Given the description of an element on the screen output the (x, y) to click on. 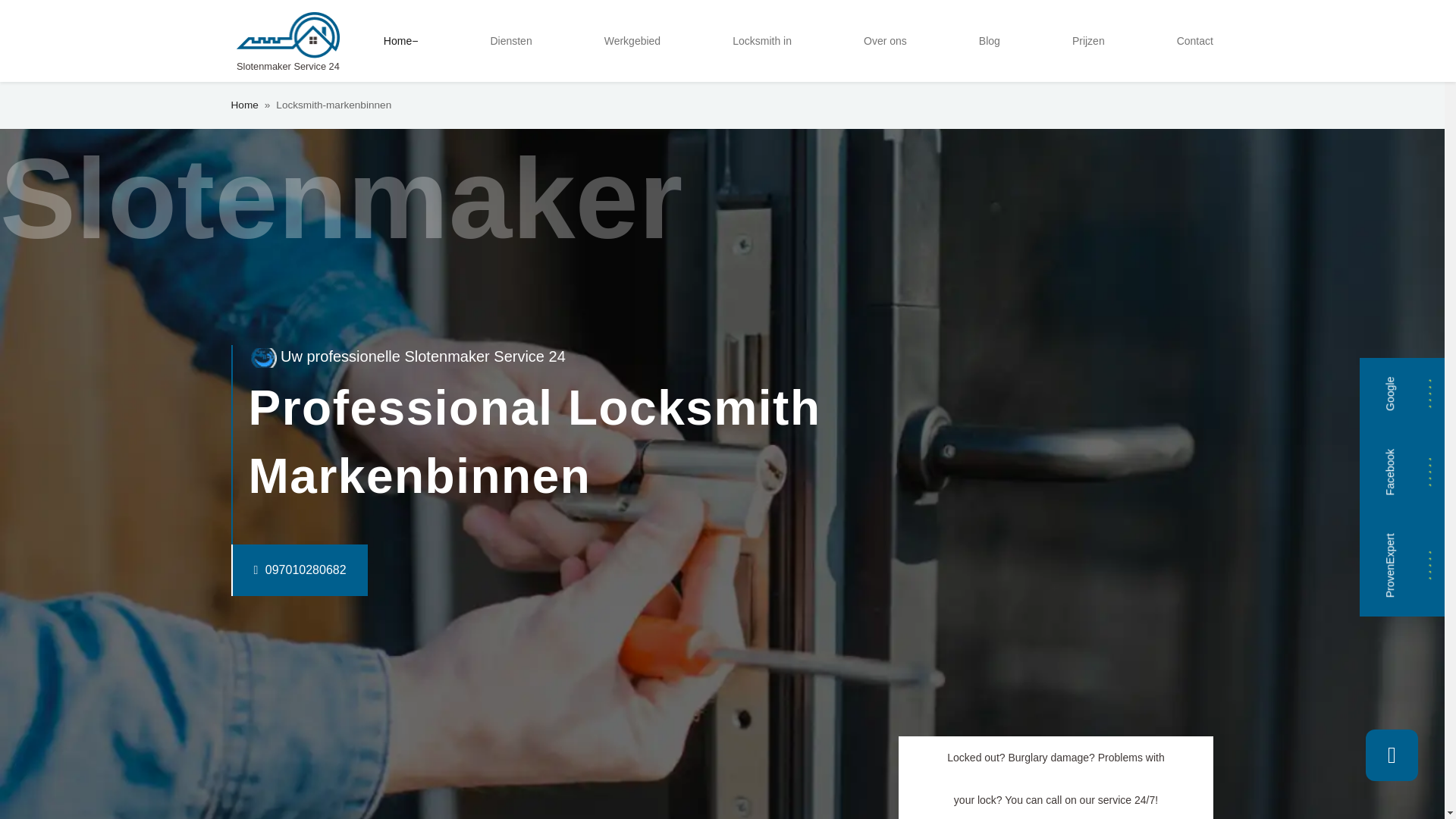
Locksmith in (761, 40)
Contact (1195, 40)
097010280682 (268, 570)
Slotenmaker Service 24 (287, 40)
Prijzen (1087, 40)
Werkgebied (632, 40)
Blog (989, 40)
Diensten (510, 40)
Home (401, 40)
Over ons (884, 40)
Home (243, 105)
